Given the description of an element on the screen output the (x, y) to click on. 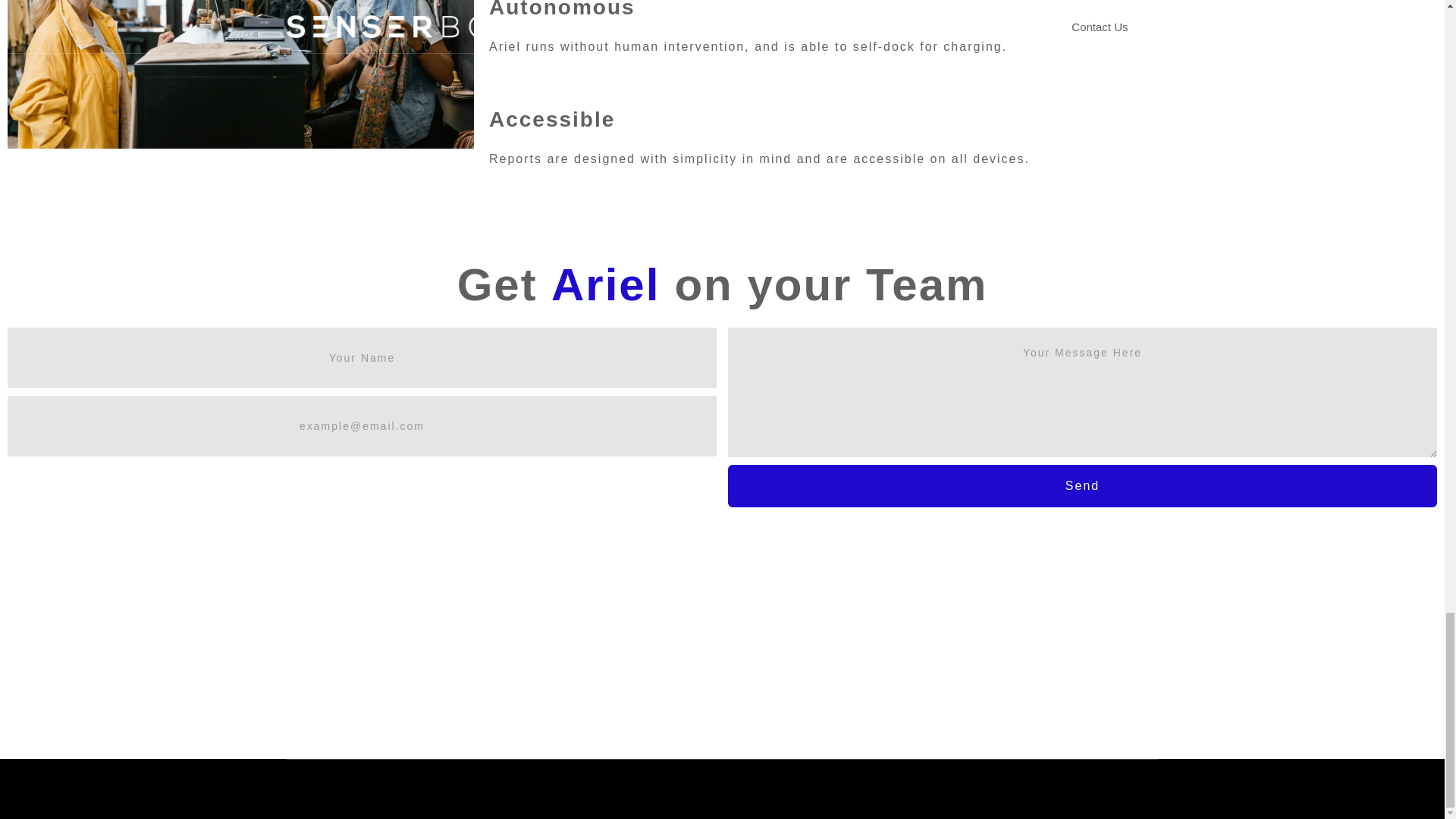
Send (1082, 485)
